Given the description of an element on the screen output the (x, y) to click on. 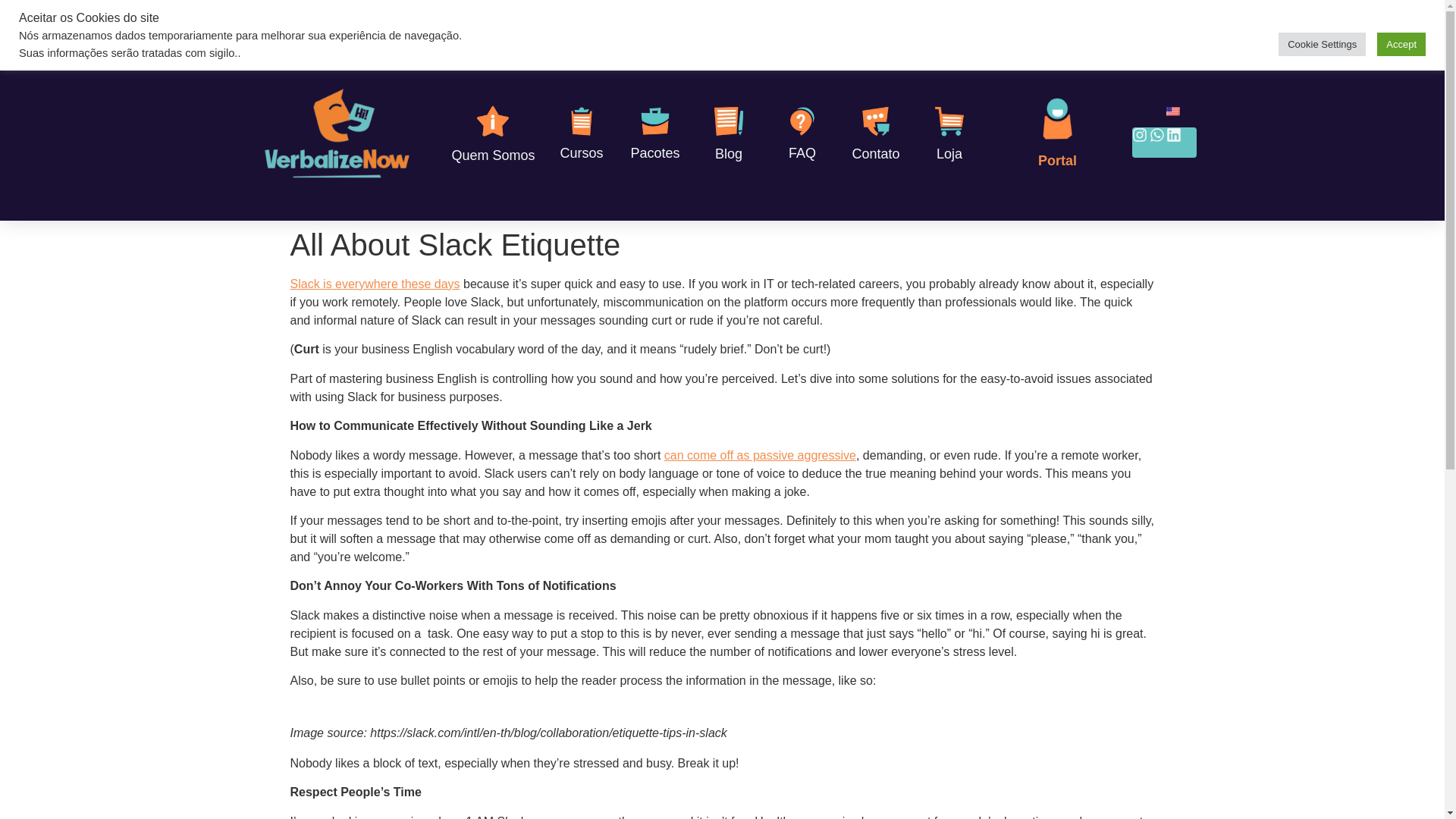
Loja (949, 153)
FAQ (802, 152)
Contato (875, 153)
English (1172, 111)
Portal (1057, 160)
Cursos (580, 152)
Blog (728, 153)
Pacotes (654, 152)
Quem Somos (492, 155)
